Given the description of an element on the screen output the (x, y) to click on. 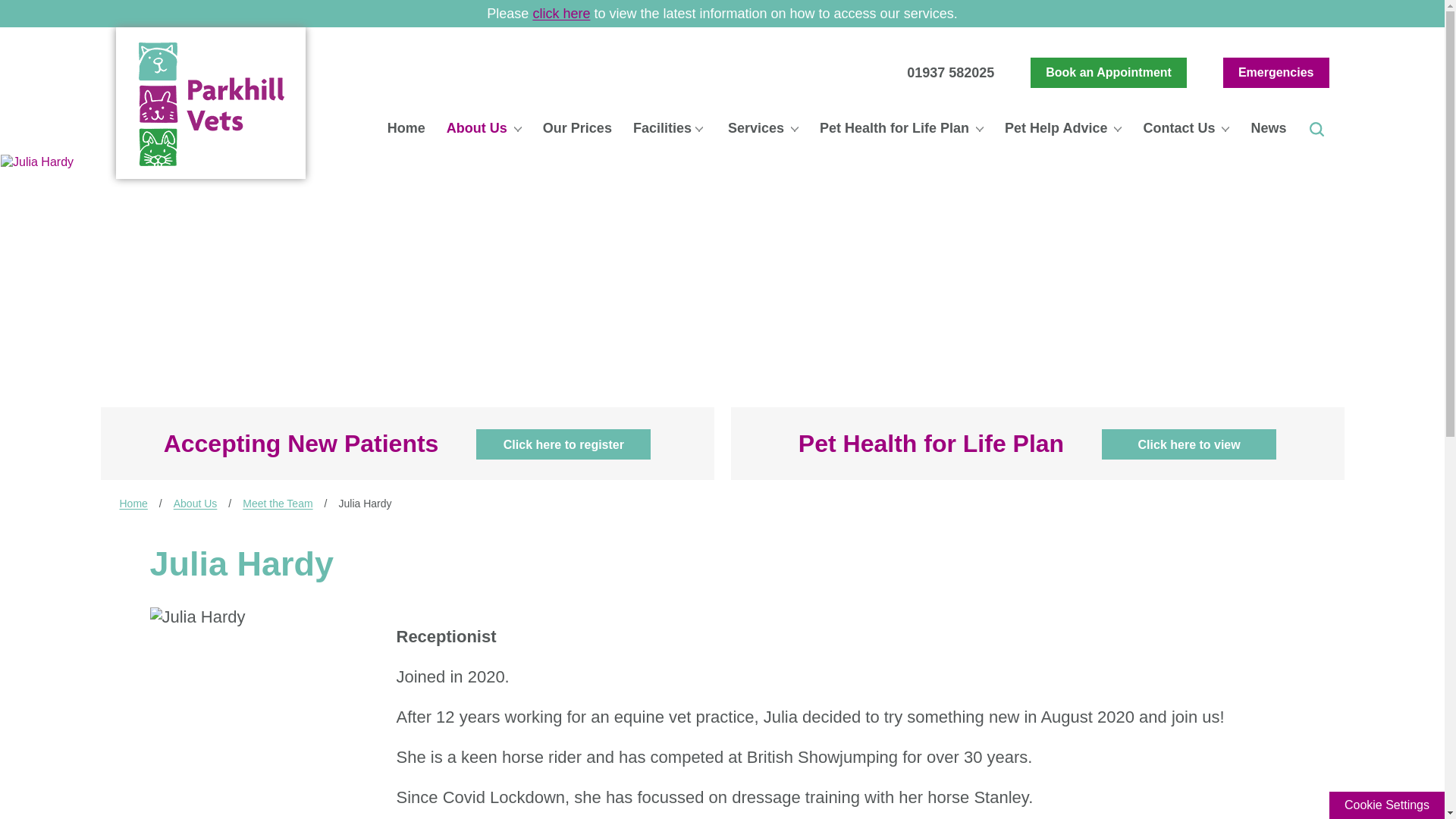
Services (762, 129)
click here (560, 13)
Emergencies (1276, 72)
Our Prices (576, 129)
Home (405, 129)
Book an Appointment (1108, 72)
01937 582025 (950, 72)
About Us (483, 129)
